Given the description of an element on the screen output the (x, y) to click on. 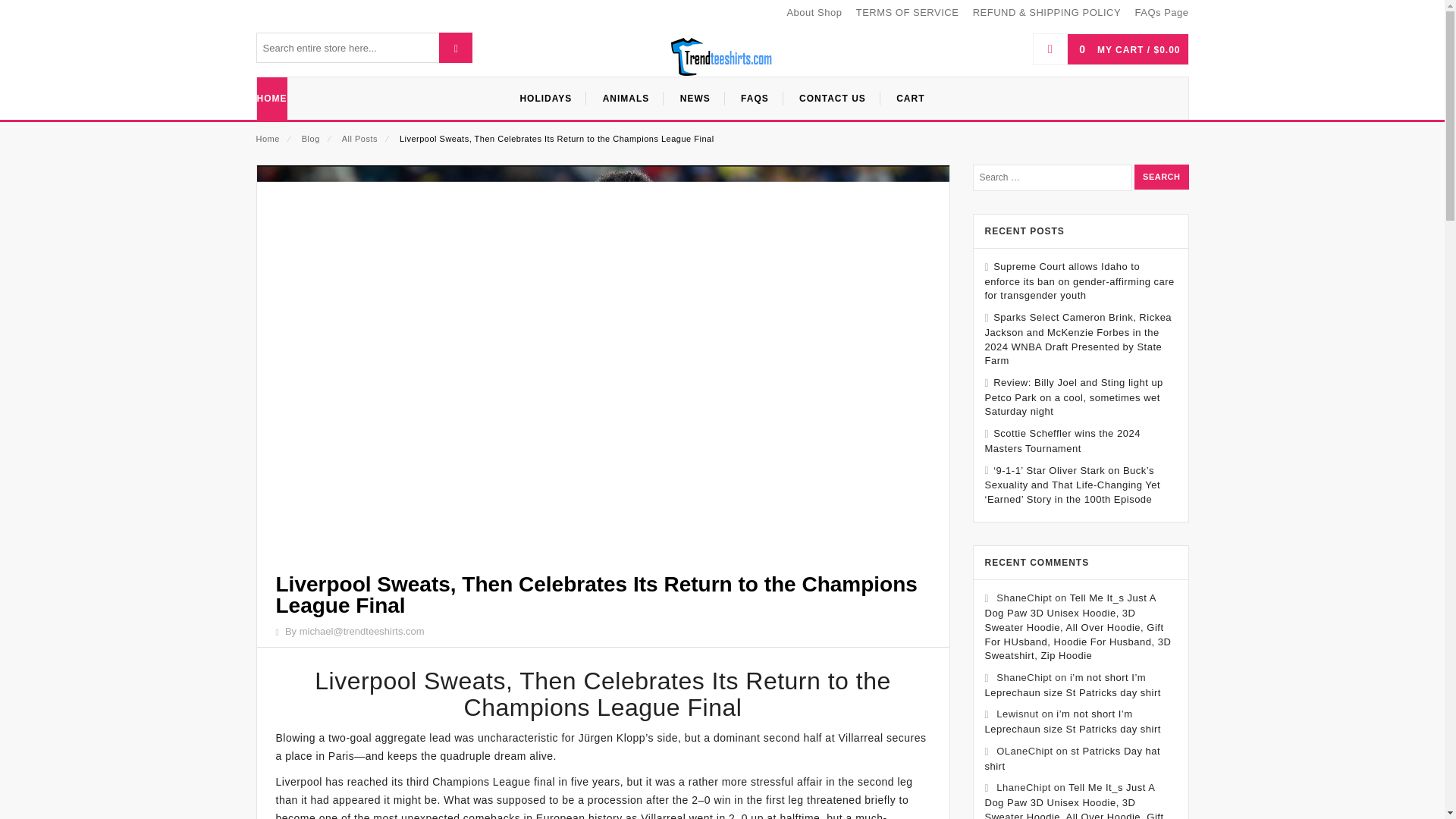
NEWS (695, 97)
About Shop (813, 14)
Trend Tee Shirts Store (722, 56)
All Posts (359, 138)
CART (909, 97)
HOLIDAYS (545, 97)
FAQs Page (1162, 14)
Search (1161, 177)
CONTACT US (833, 97)
Home (267, 138)
